Given the description of an element on the screen output the (x, y) to click on. 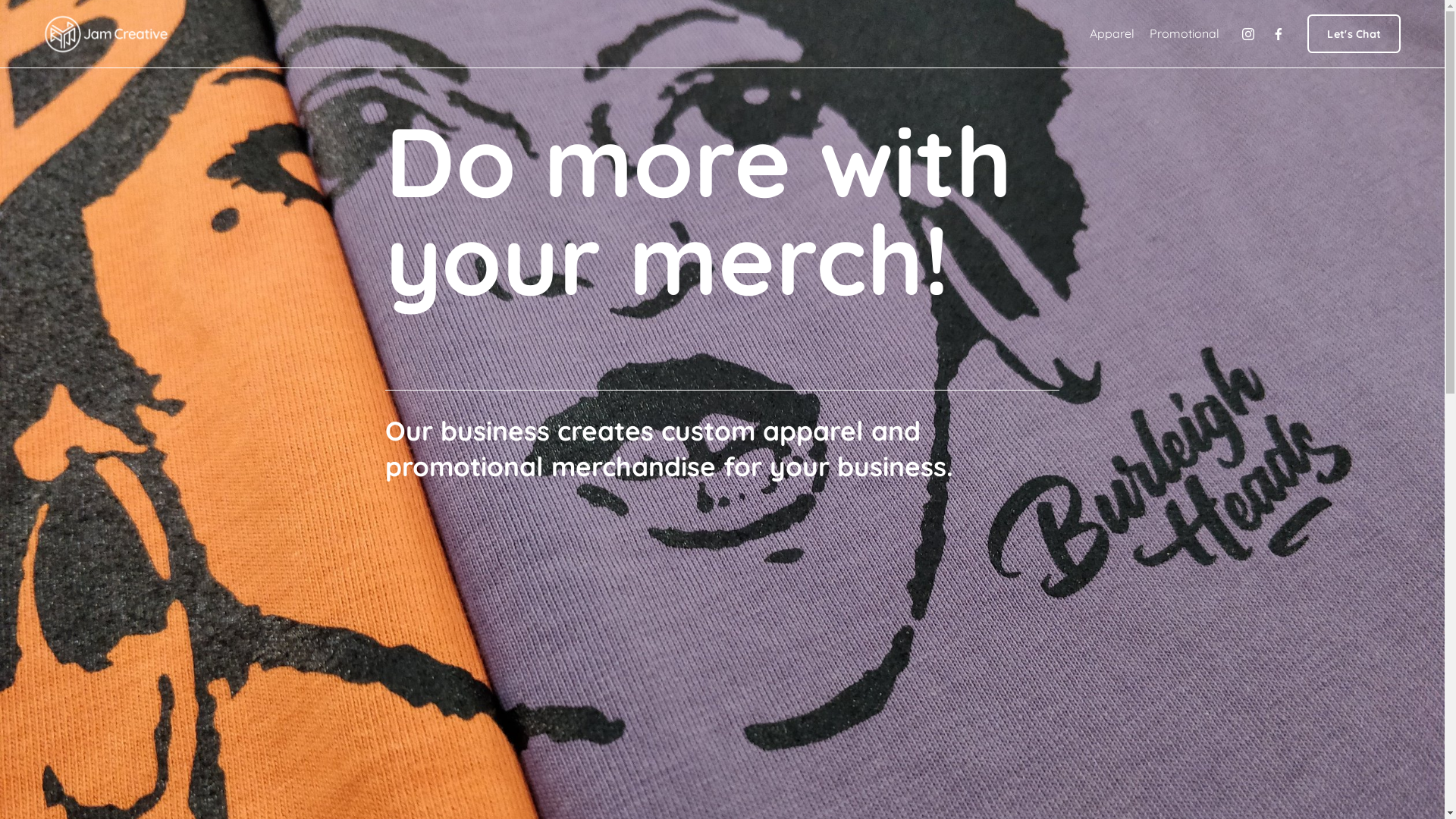
Let's Chat Element type: text (1353, 33)
Apparel Element type: text (1111, 33)
Promotional Element type: text (1184, 33)
